Given the description of an element on the screen output the (x, y) to click on. 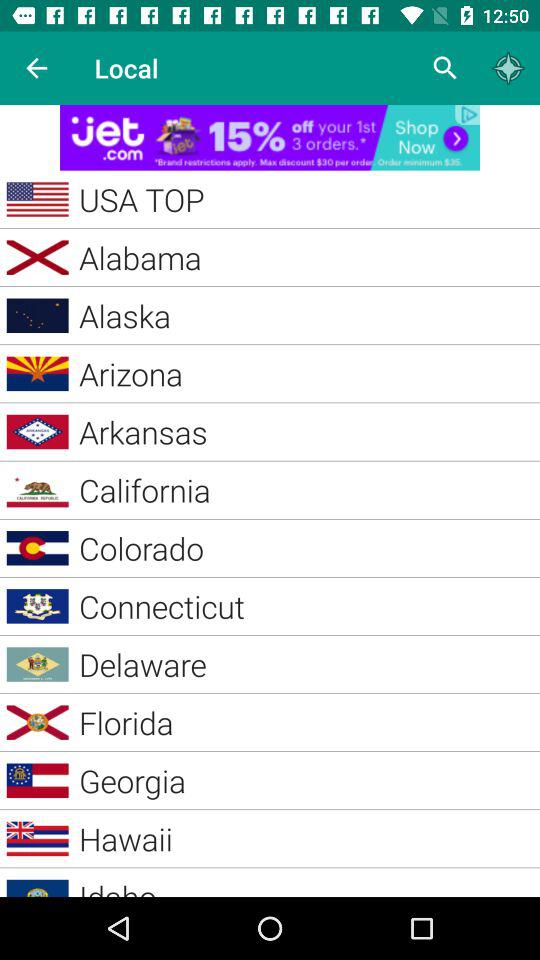
click the logo left to california (37, 490)
click on the image beside arizona (37, 373)
click on the image beside colorado (37, 548)
click on the symbol beside usa top (37, 198)
click on the image left side of florida (37, 722)
